Given the description of an element on the screen output the (x, y) to click on. 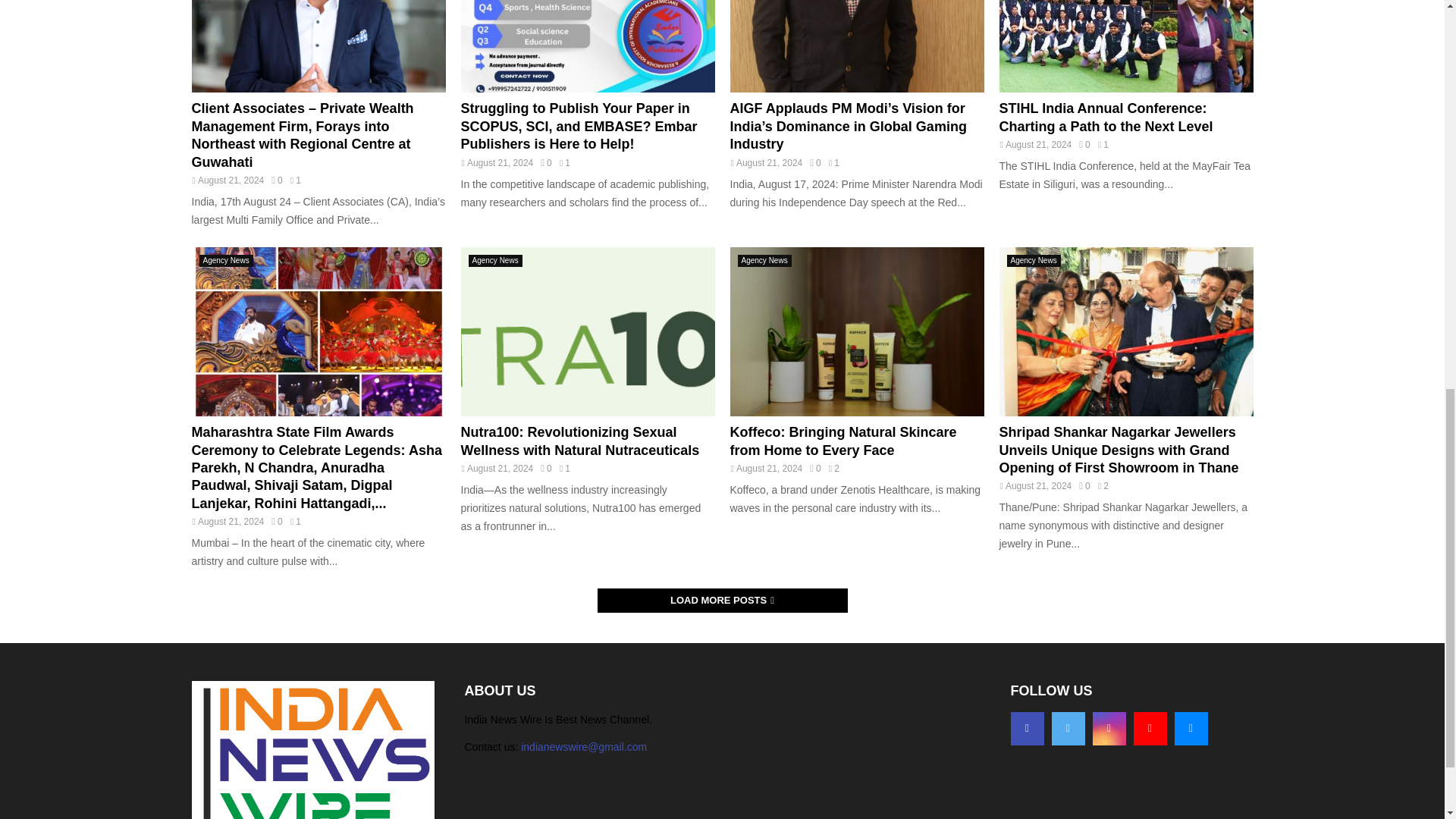
0 (815, 163)
0 (545, 163)
0 (276, 180)
